Given the description of an element on the screen output the (x, y) to click on. 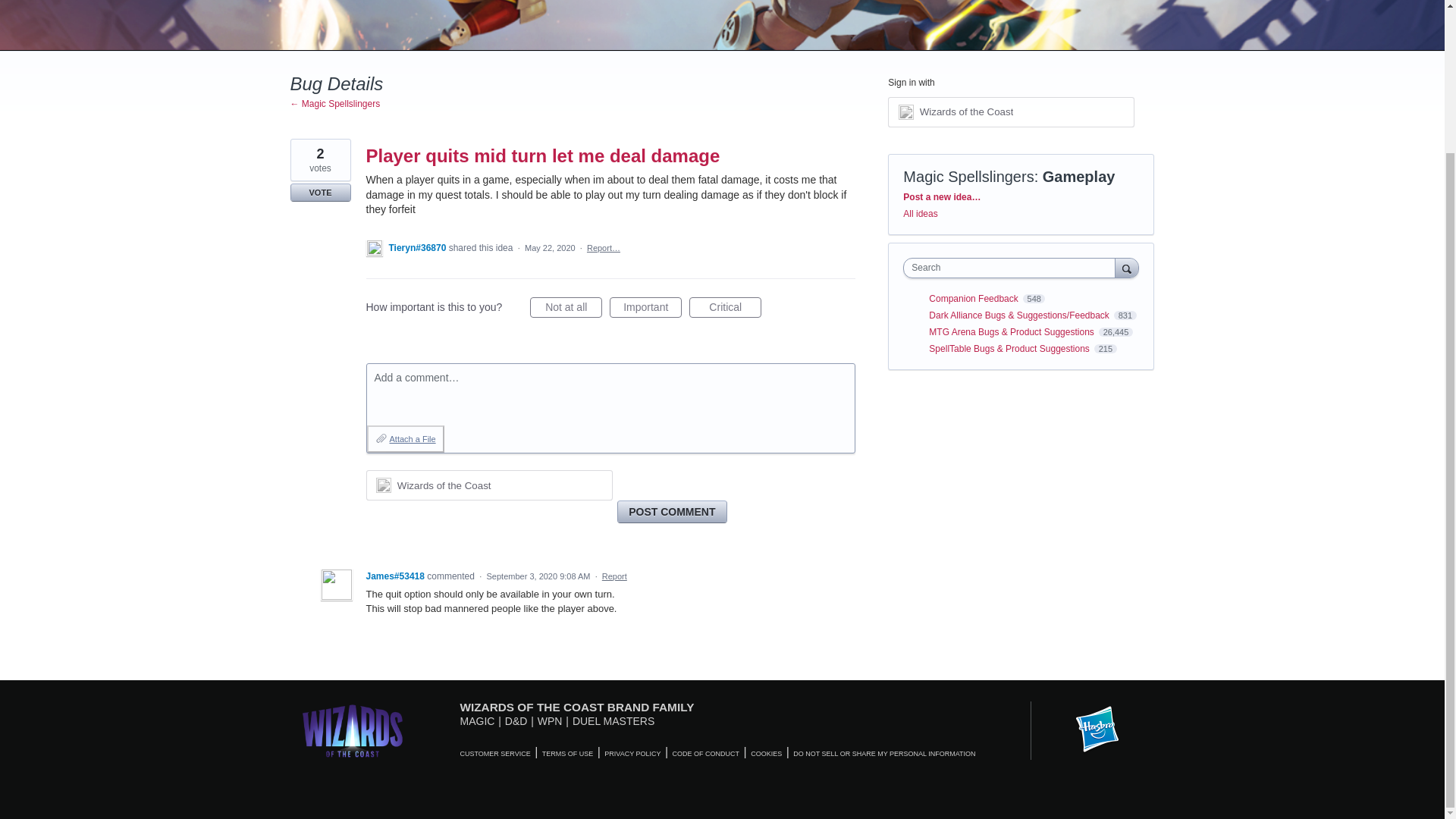
Wizards of the Coast sign in (488, 485)
Report (614, 575)
Important (645, 307)
Wizards of the Coast (444, 485)
Critical (724, 307)
Not at all (565, 307)
Wizards of the Coast sign in (1011, 112)
View all ideas in Companion Feedback (974, 298)
Wizards of the Coast (488, 485)
POST COMMENT (671, 511)
Wizards of the Coast (966, 111)
Attach a File (405, 438)
VOTE (319, 192)
Wizards of the Coast (1011, 112)
